Given the description of an element on the screen output the (x, y) to click on. 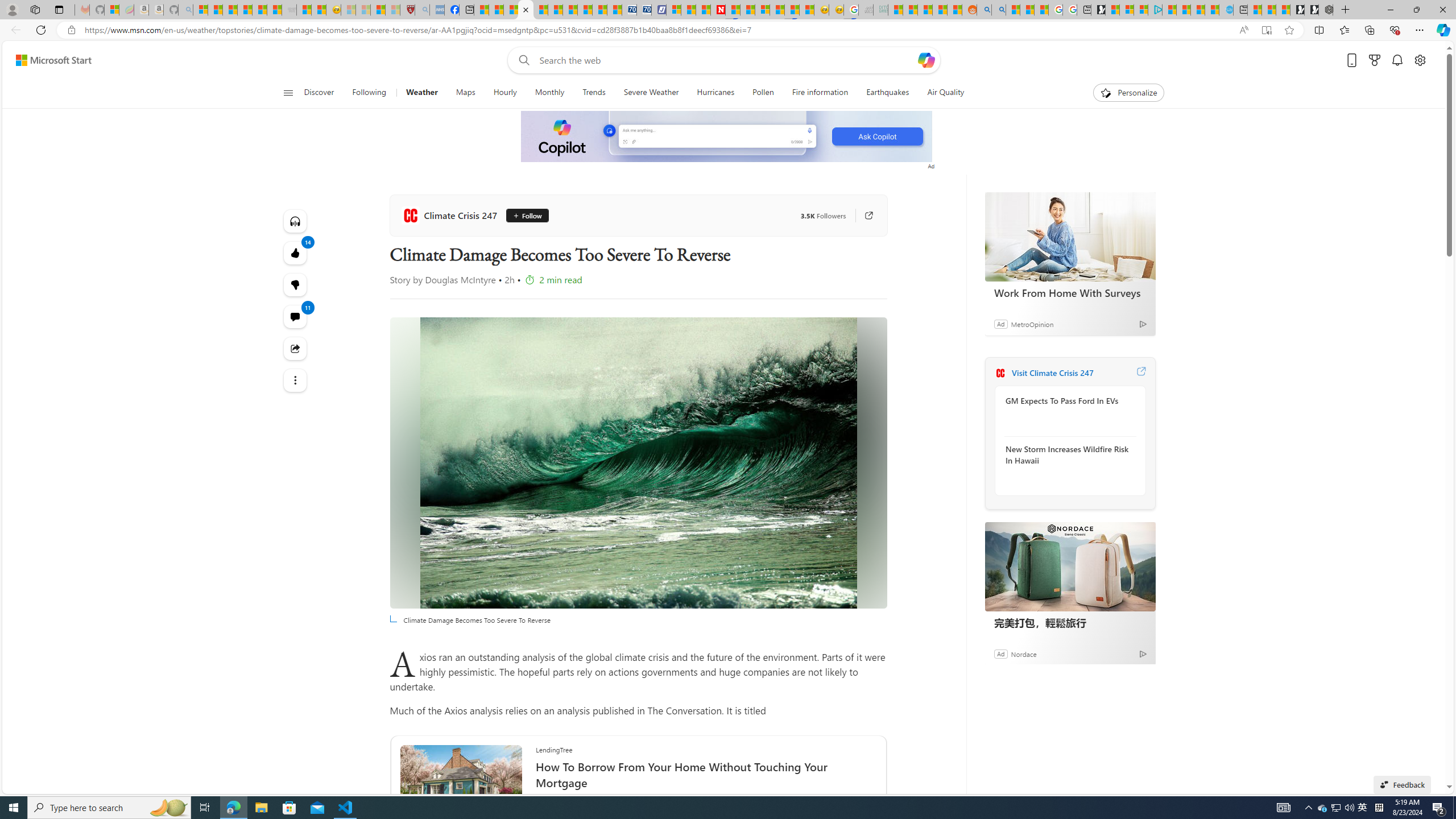
Cheap Car Rentals - Save70.com (629, 9)
GM Expects To Pass Ford In EVs (1066, 401)
Hurricanes (715, 92)
Trends (593, 92)
Newsweek - News, Analysis, Politics, Business, Technology (718, 9)
Listen to this article (295, 220)
Enter your search term (726, 59)
